Given the description of an element on the screen output the (x, y) to click on. 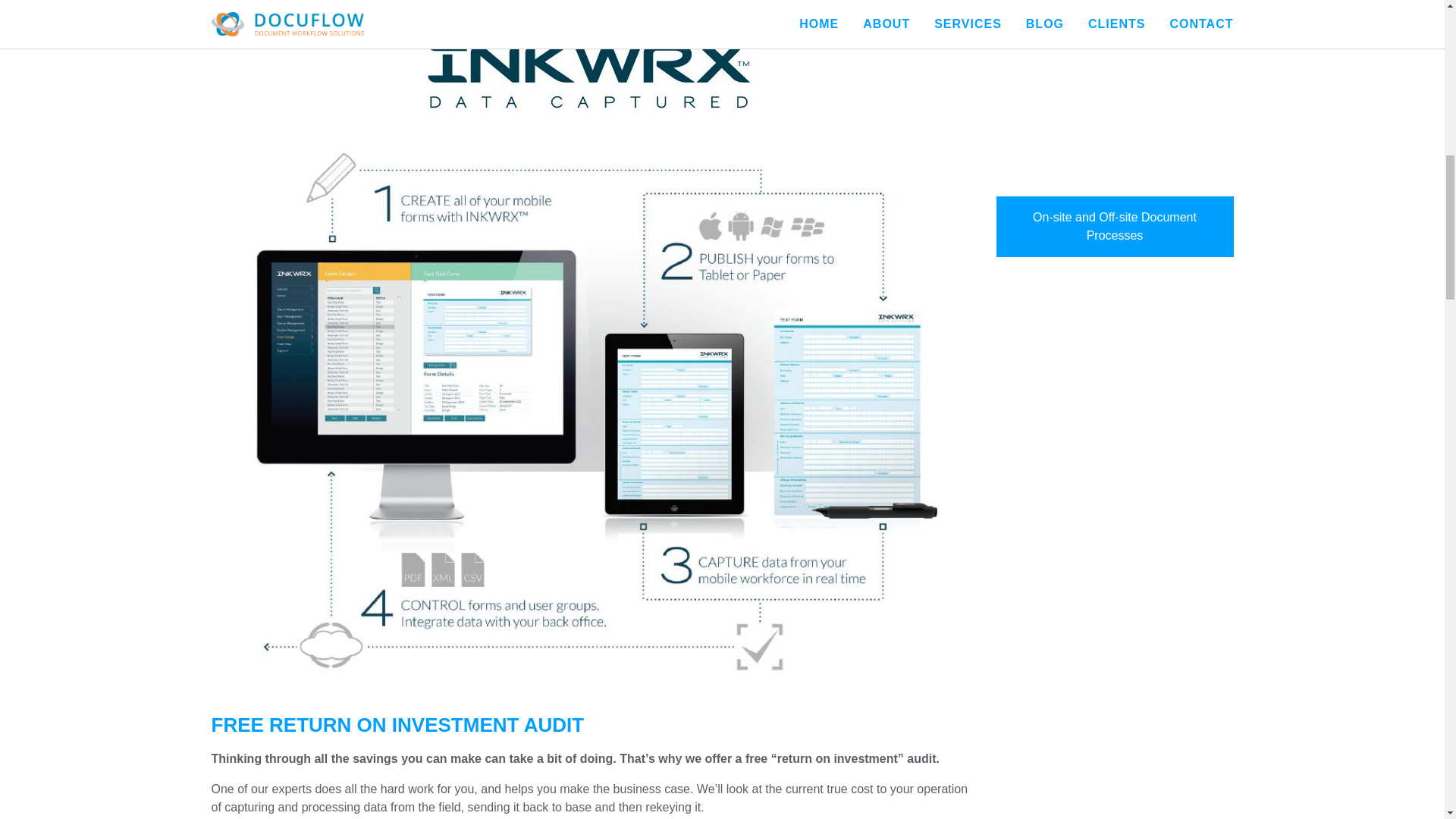
Postal Solutions (1114, 19)
On-site and Off-site Document Processes (1114, 160)
